Given the description of an element on the screen output the (x, y) to click on. 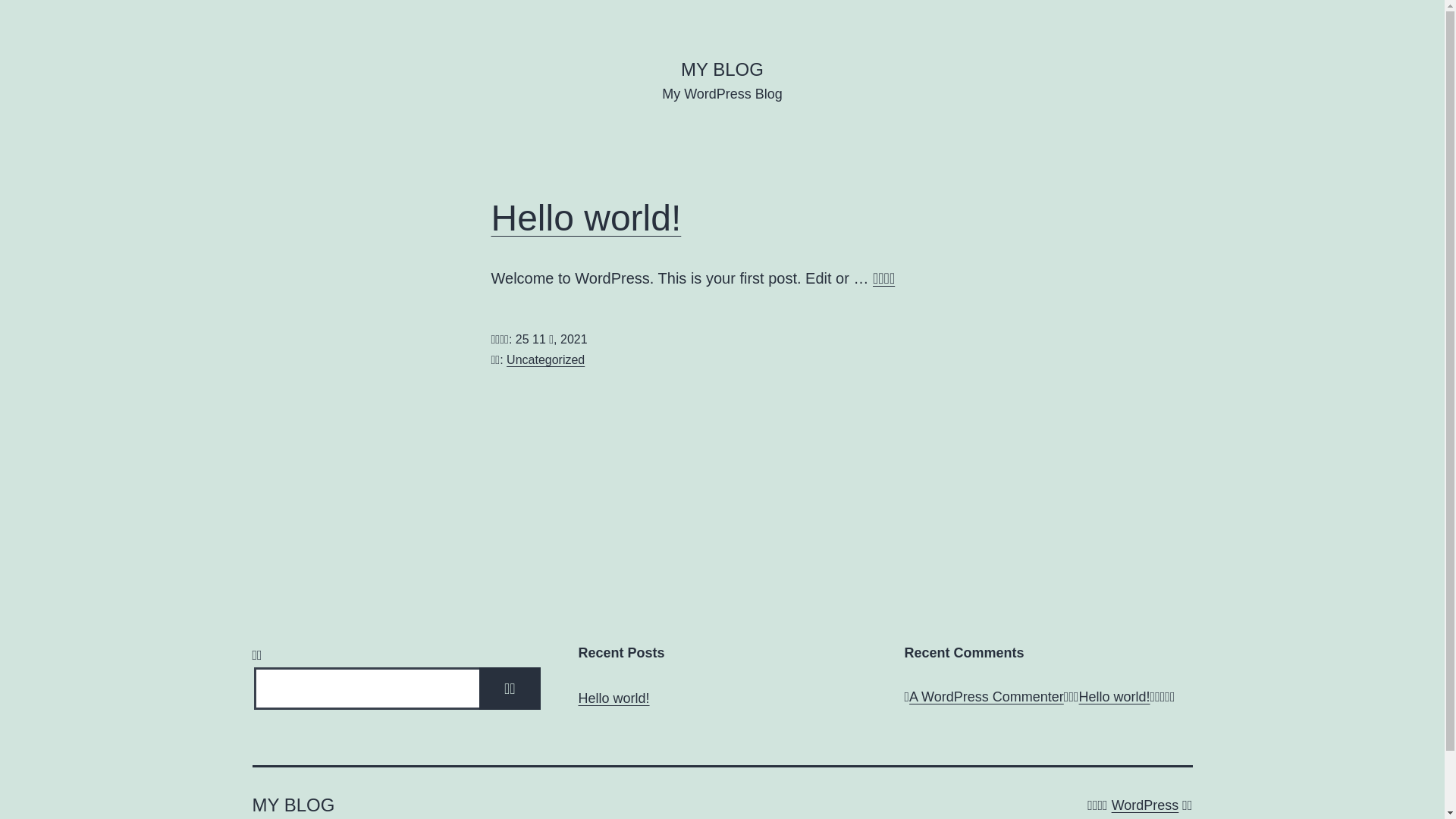
Hello world! Element type: text (613, 698)
A WordPress Commenter Element type: text (986, 696)
Hello world! Element type: text (1114, 696)
Hello world! Element type: text (586, 217)
WordPress Element type: text (1145, 804)
Uncategorized Element type: text (545, 359)
